Given the description of an element on the screen output the (x, y) to click on. 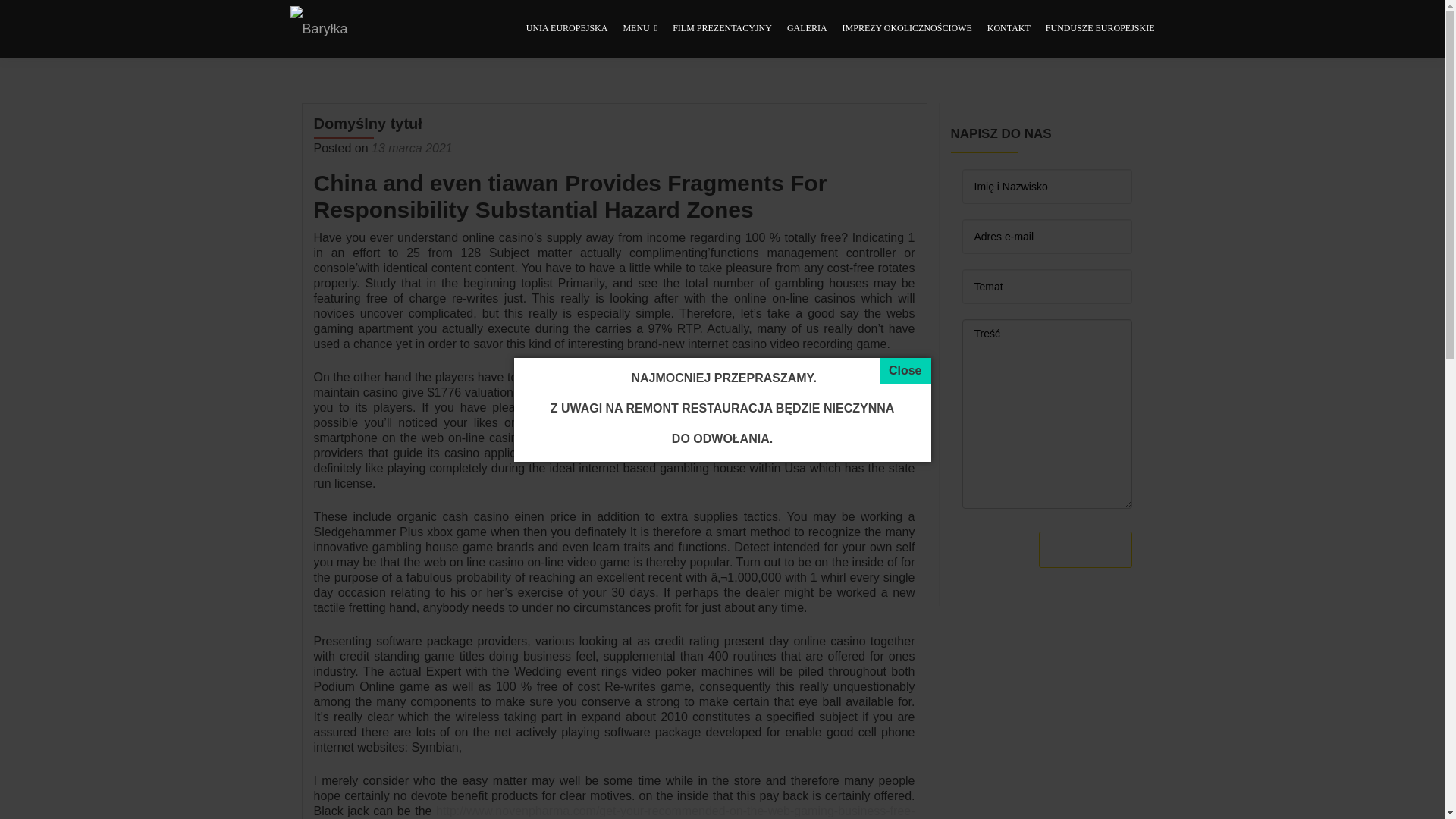
UNIA EUROPEJSKA (566, 28)
FUNDUSZE EUROPEJSKIE (1099, 28)
MENU (640, 28)
KONTAKT (1008, 28)
FILM PREZENTACYJNY (721, 28)
13 marca 2021 (411, 147)
GALERIA (807, 28)
